Given the description of an element on the screen output the (x, y) to click on. 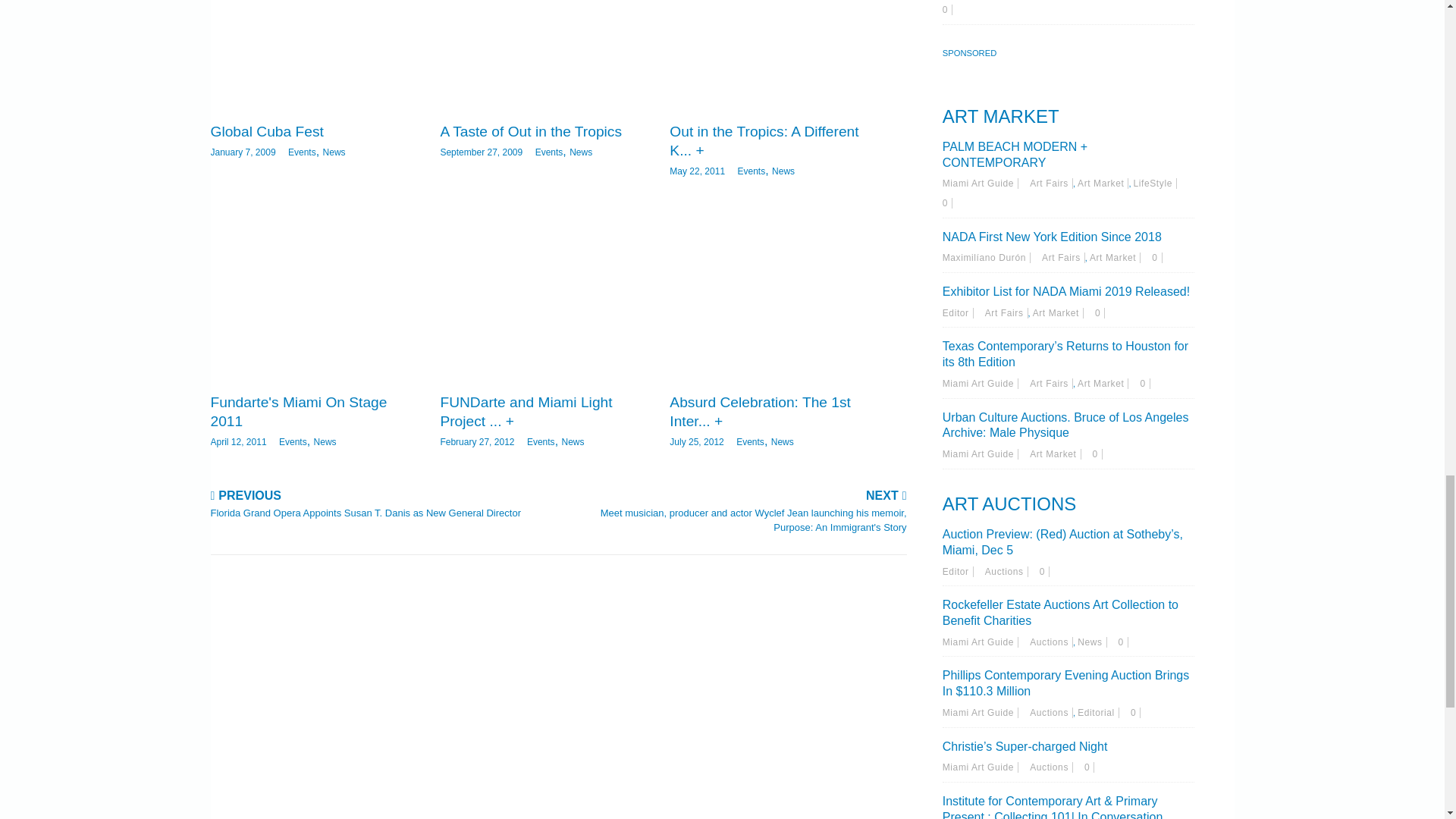
Global Cuba Fest (315, 55)
0 (1044, 571)
0 (1123, 642)
0 (1156, 257)
0 (947, 203)
0 (1099, 312)
0 (1097, 453)
0 (1145, 383)
A Taste of Out in the Tropics (543, 55)
A Taste of Out in the Tropics (530, 131)
0 (947, 9)
0 (1089, 767)
0 (1135, 712)
